Given the description of an element on the screen output the (x, y) to click on. 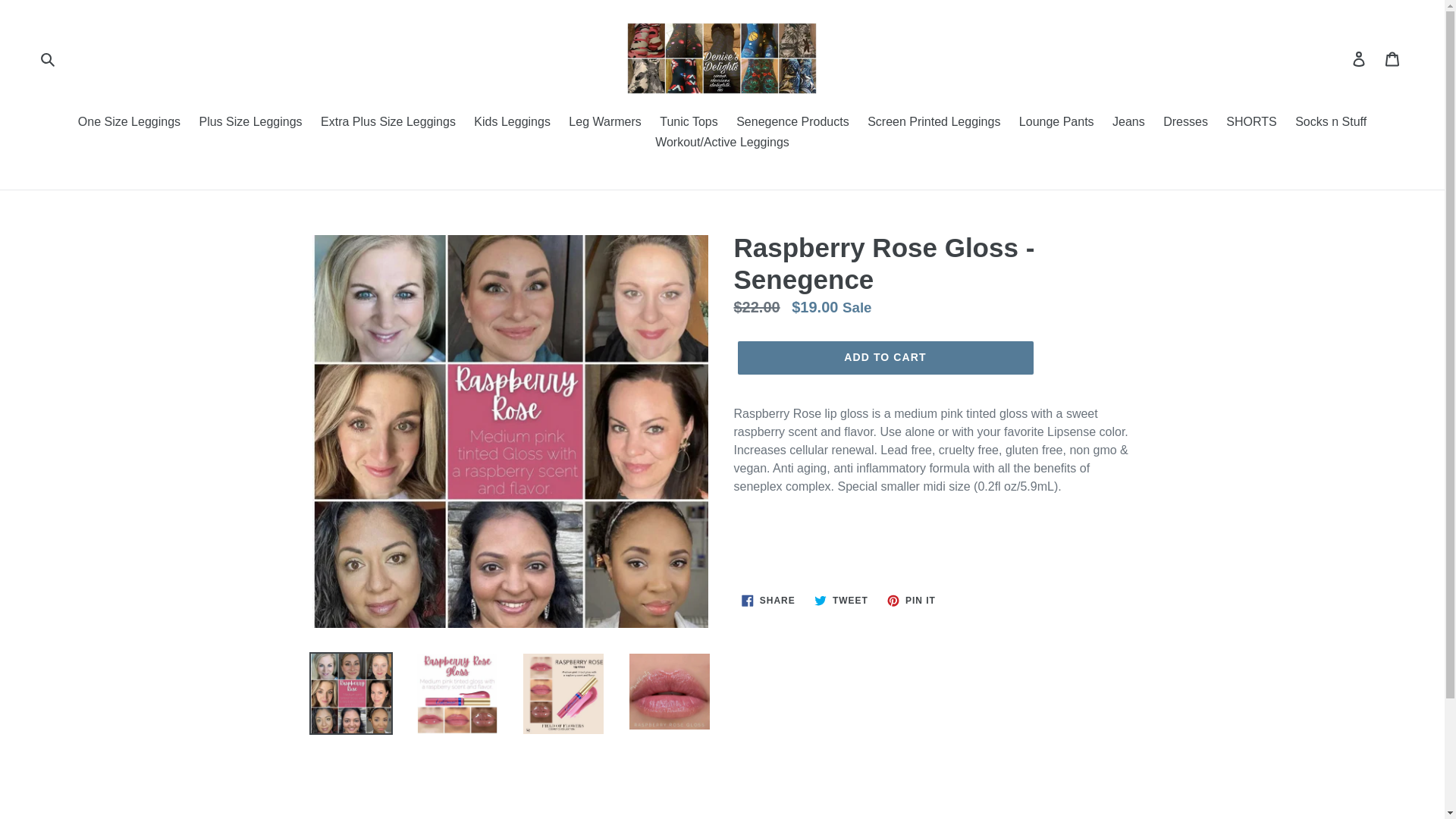
One Size Leggings (128, 123)
Plus Size Leggings (249, 123)
Senegence Products (793, 123)
SHORTS (1251, 123)
Tunic Tops (688, 123)
Lounge Pants (1056, 123)
Kids Leggings (511, 123)
Socks n Stuff (1330, 123)
Dresses (1185, 123)
Cart (1392, 58)
Log in (1359, 58)
Leg Warmers (603, 123)
Screen Printed Leggings (933, 123)
Submit (47, 58)
Jeans (1129, 123)
